Given the description of an element on the screen output the (x, y) to click on. 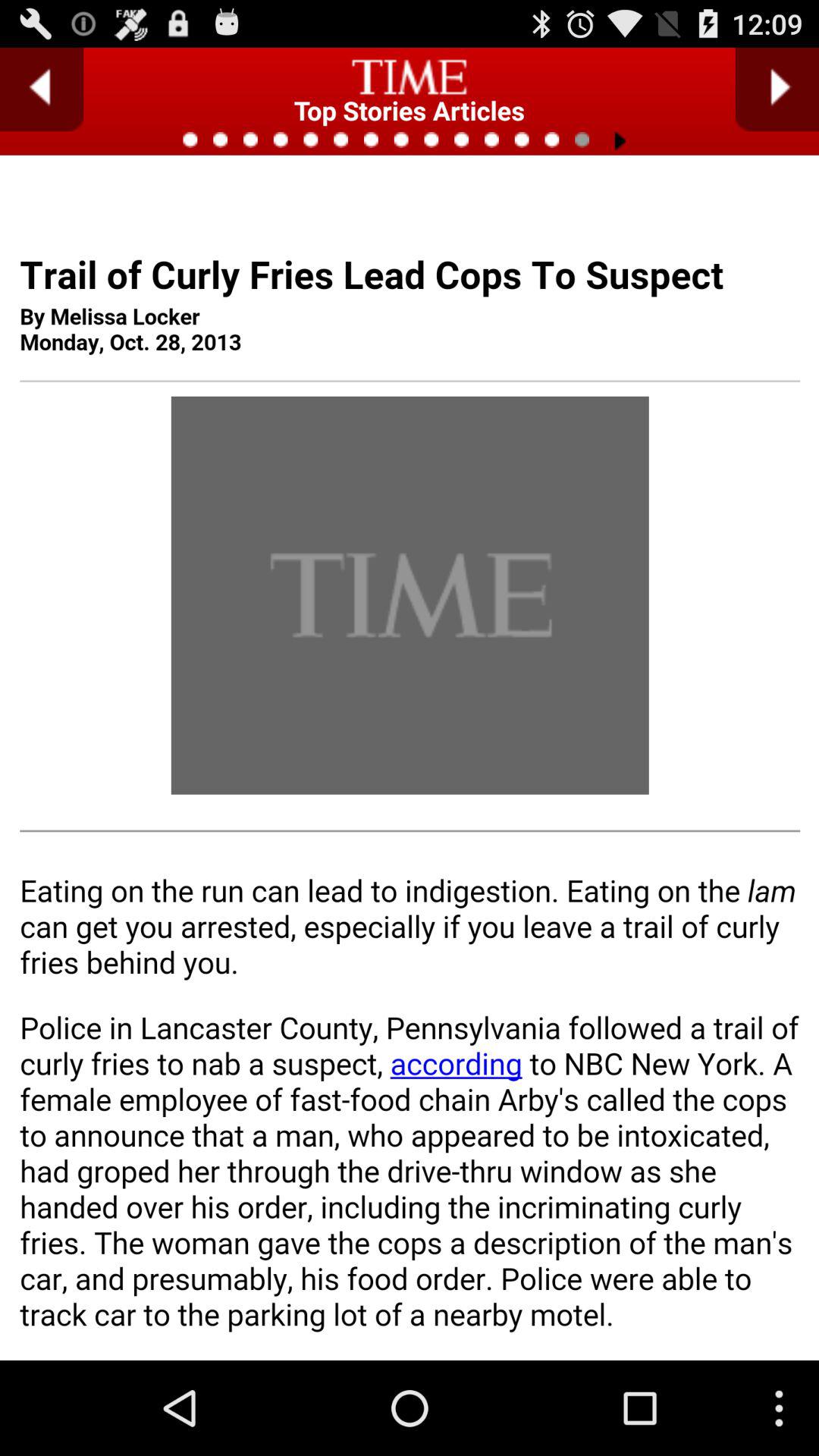
click on the 8th page indicator icon from left (409, 140)
